Given the description of an element on the screen output the (x, y) to click on. 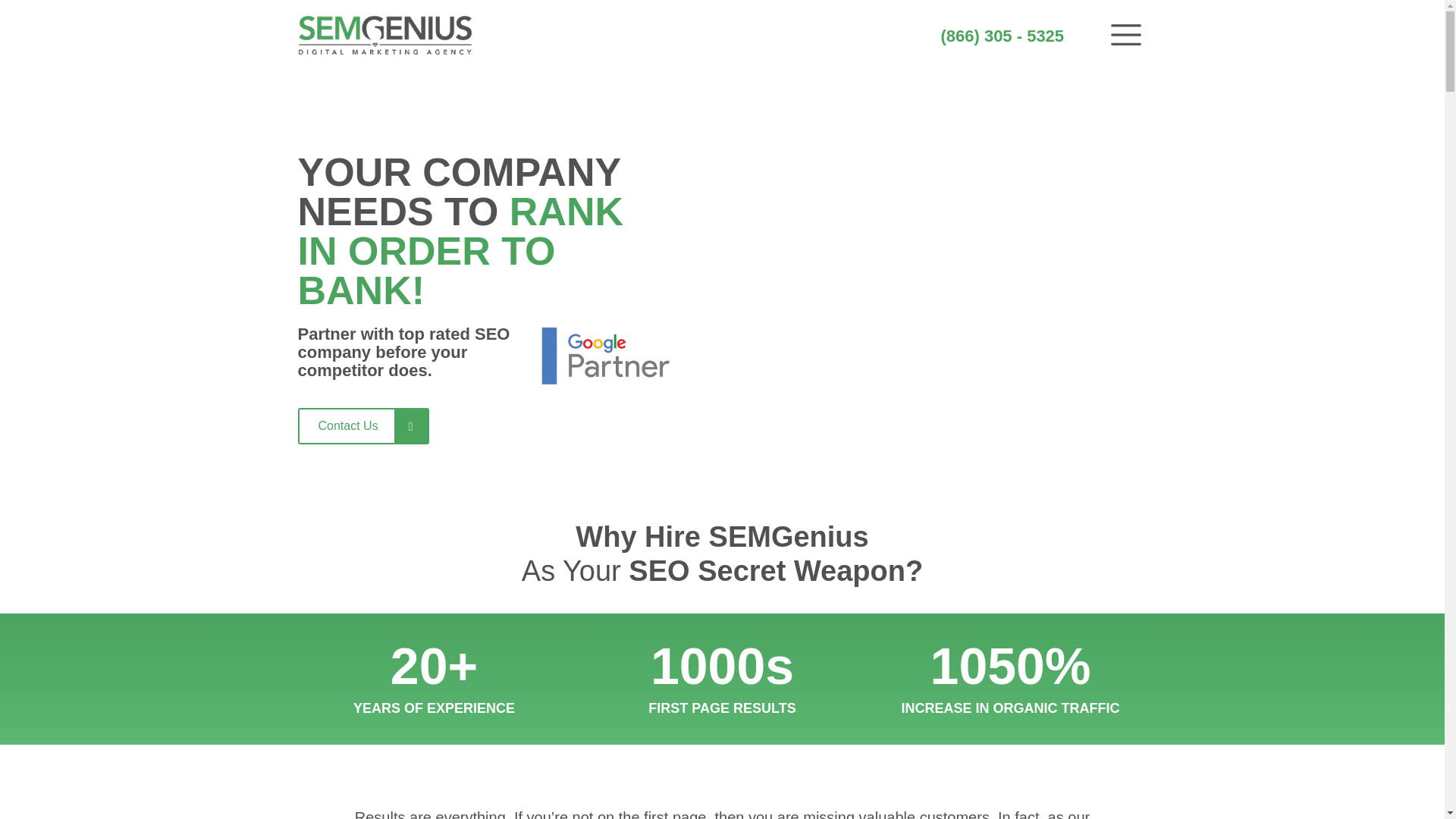
Contact Us (360, 425)
